Given the description of an element on the screen output the (x, y) to click on. 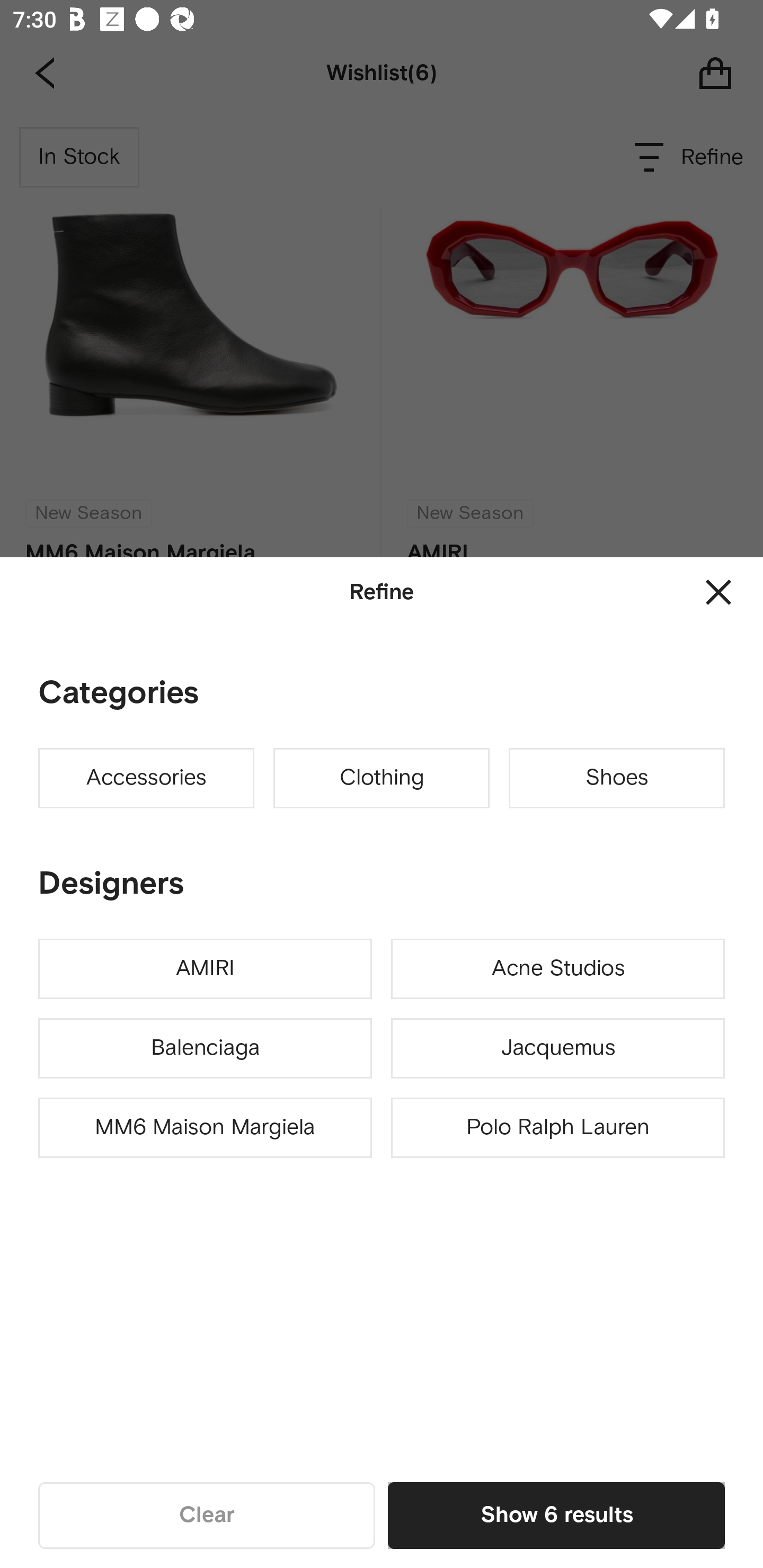
Accessories (146, 778)
Clothing (381, 778)
Shoes (616, 778)
AMIRI (205, 968)
Acne Studios (557, 968)
Balenciaga (205, 1047)
Jacquemus (557, 1047)
MM6 Maison Margiela (205, 1127)
Polo Ralph Lauren (557, 1127)
Clear (206, 1515)
Show 6 results (555, 1515)
